Given the description of an element on the screen output the (x, y) to click on. 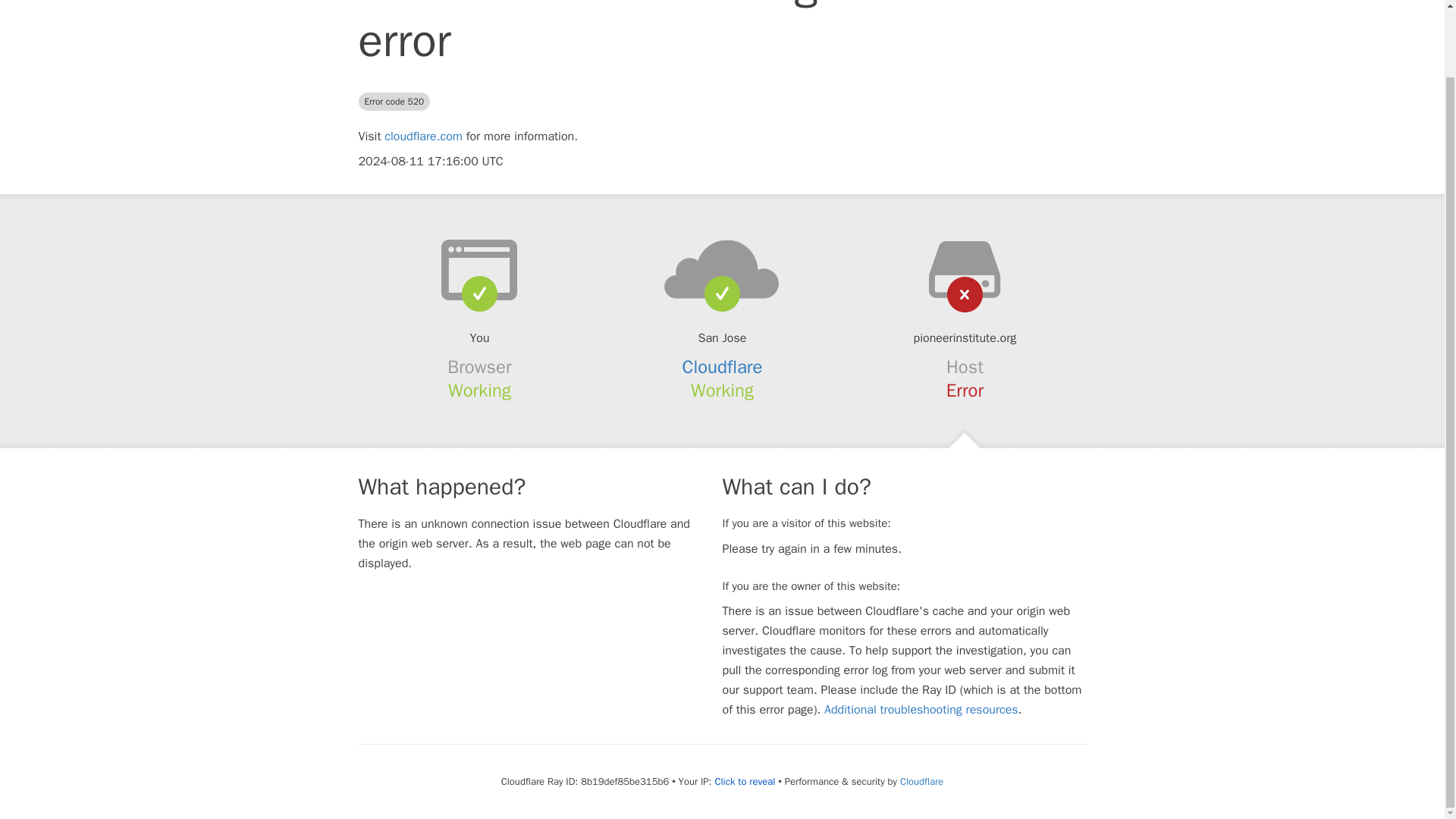
Additional troubleshooting resources (920, 709)
Cloudflare (722, 366)
Cloudflare (921, 780)
Click to reveal (744, 781)
cloudflare.com (423, 136)
